Given the description of an element on the screen output the (x, y) to click on. 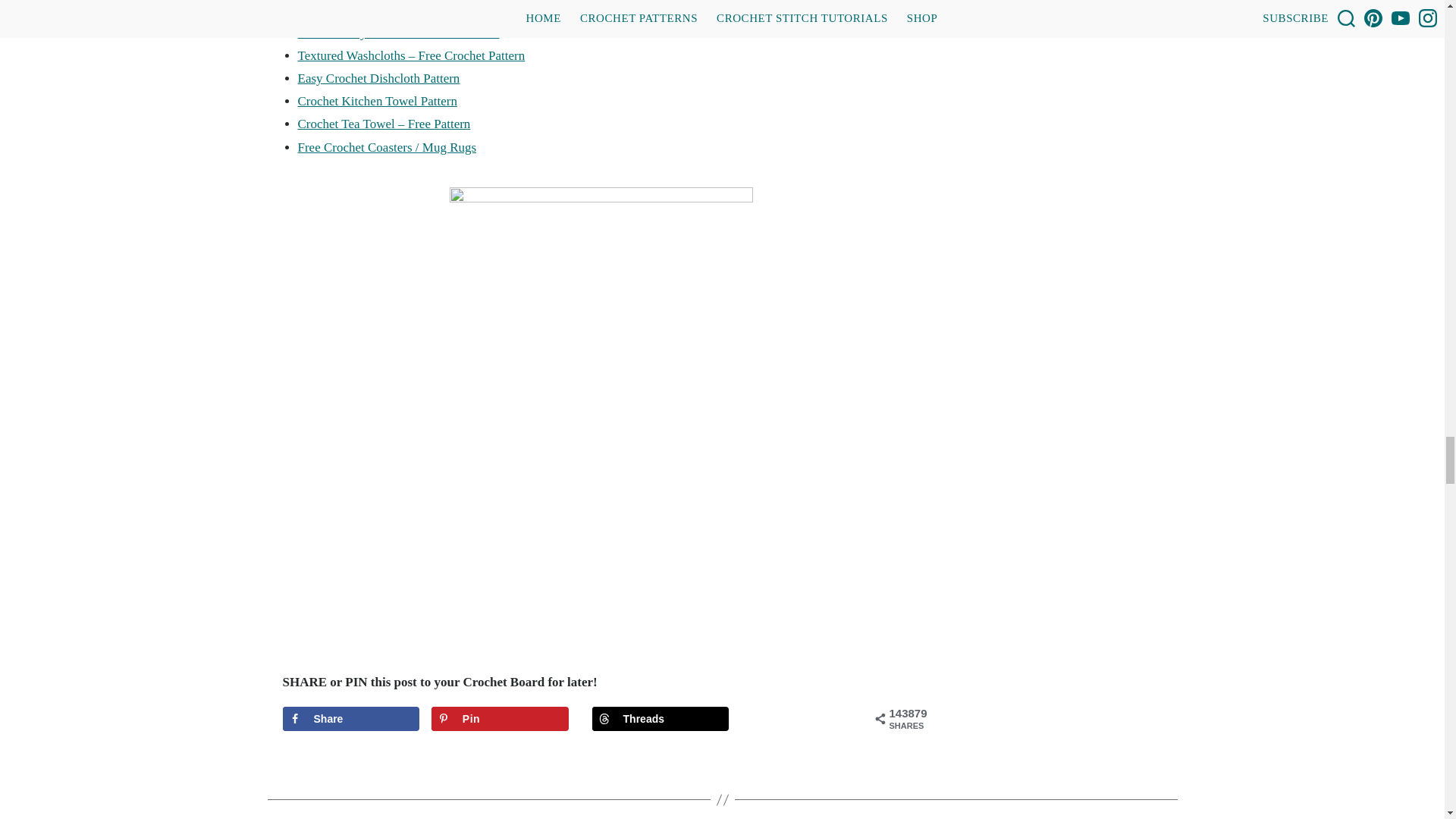
Save to Pinterest (499, 718)
Share on Facebook (350, 718)
Share on Threads (660, 718)
